Given the description of an element on the screen output the (x, y) to click on. 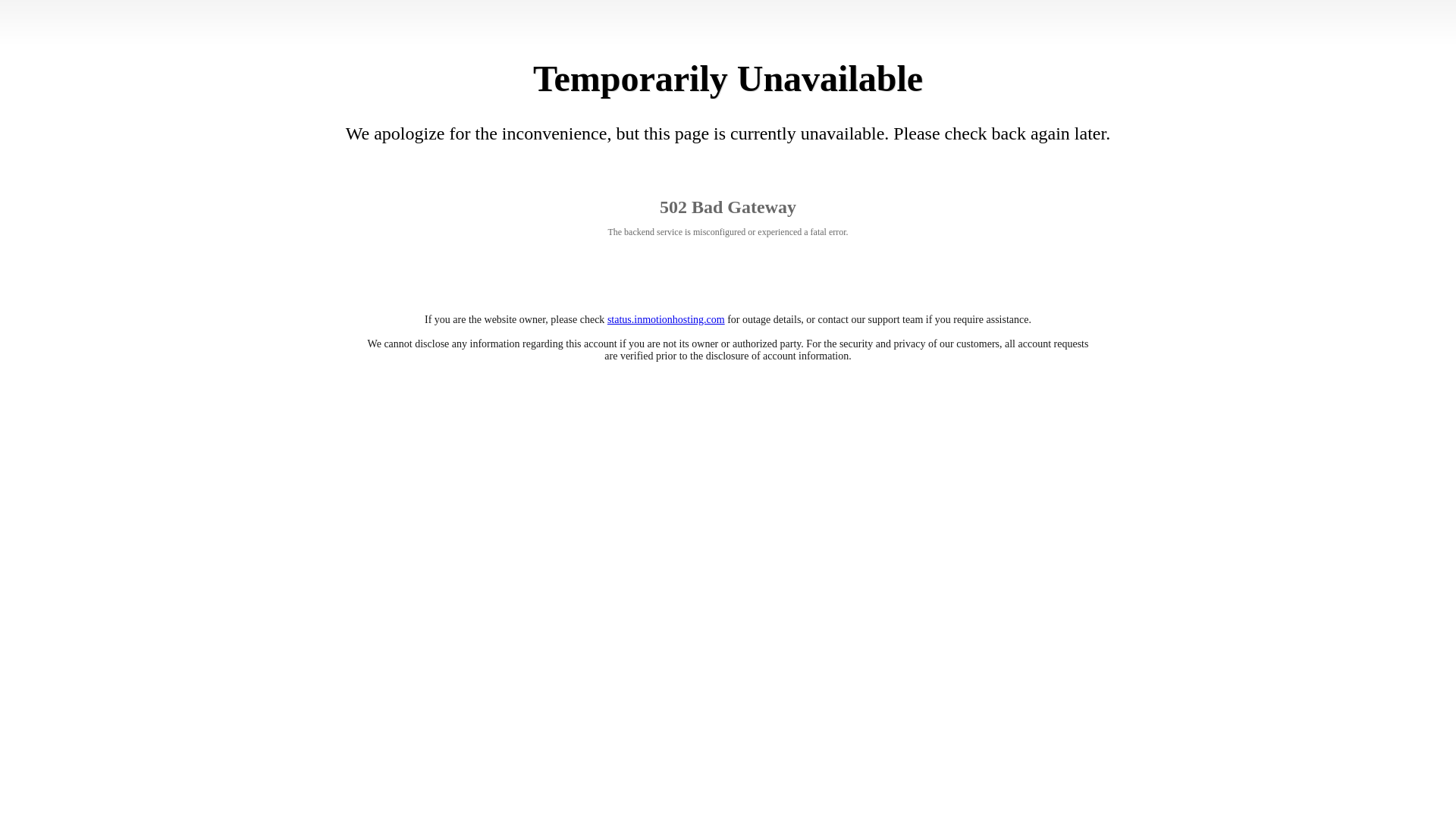
status.inmotionhosting.com (666, 319)
